Given the description of an element on the screen output the (x, y) to click on. 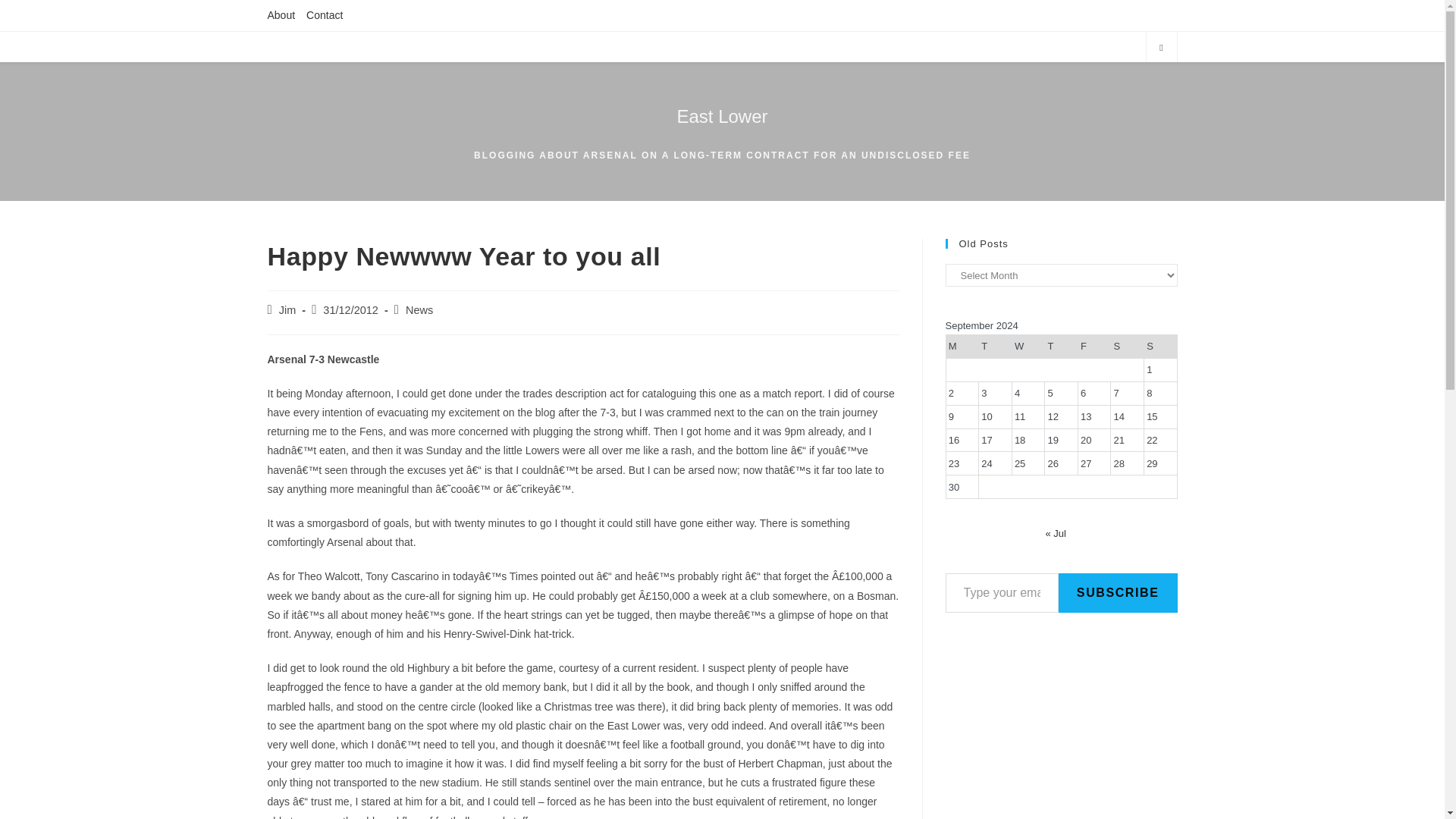
Saturday (1127, 346)
Contact (323, 15)
Tuesday (994, 346)
Posts by Jim (288, 309)
East Lower (722, 116)
SUBSCRIBE (1117, 593)
Friday (1093, 346)
Jim (288, 309)
Thursday (1061, 346)
About (280, 15)
